Given the description of an element on the screen output the (x, y) to click on. 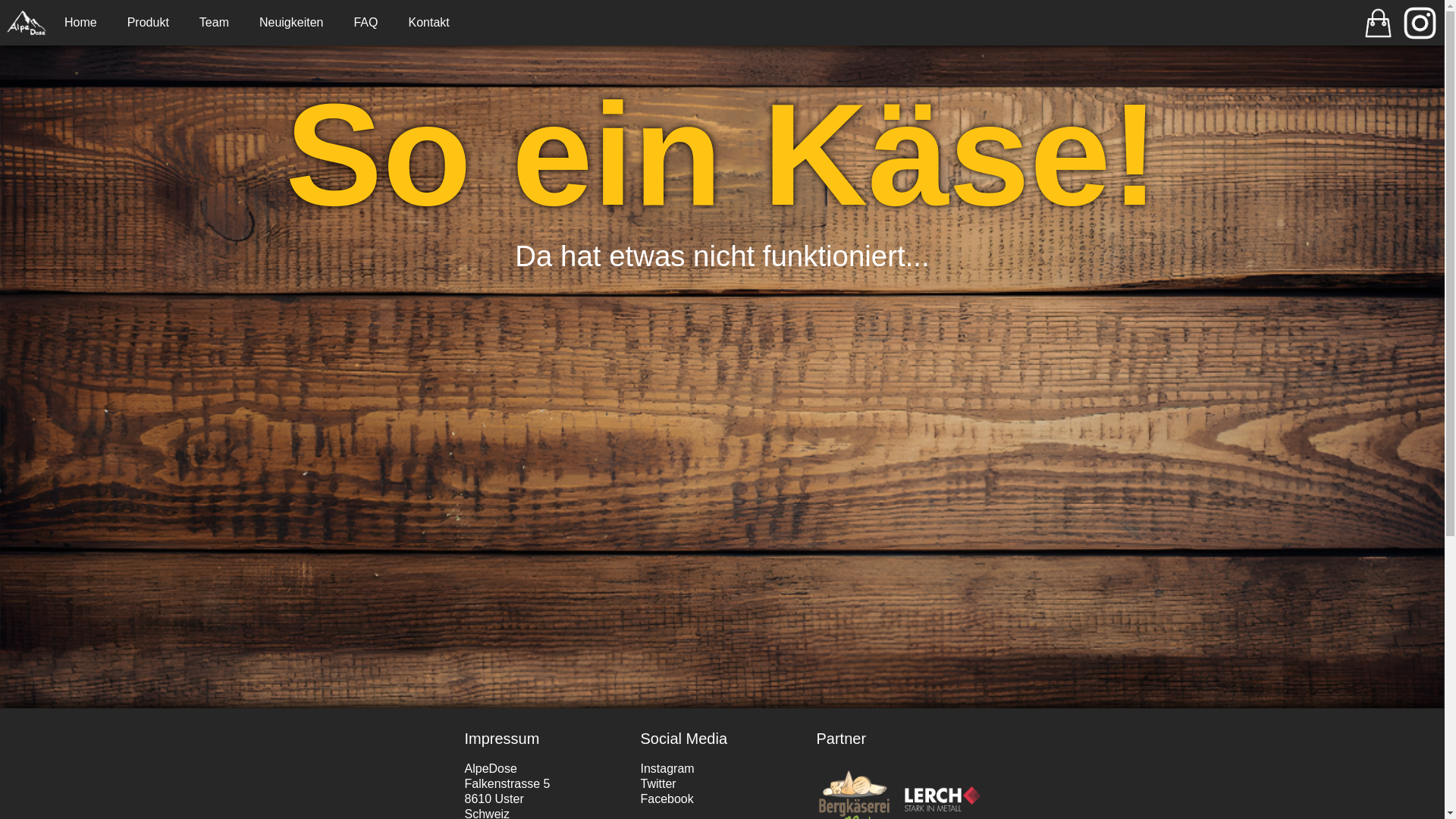
Neuigkeiten Element type: text (291, 22)
FAQ Element type: text (365, 22)
Home Element type: text (80, 22)
Kontakt Element type: text (428, 22)
Produkt Element type: text (148, 22)
Facebook Element type: text (666, 798)
Team Element type: text (214, 22)
Twitter Element type: text (657, 783)
Instagram Element type: text (666, 768)
